Given the description of an element on the screen output the (x, y) to click on. 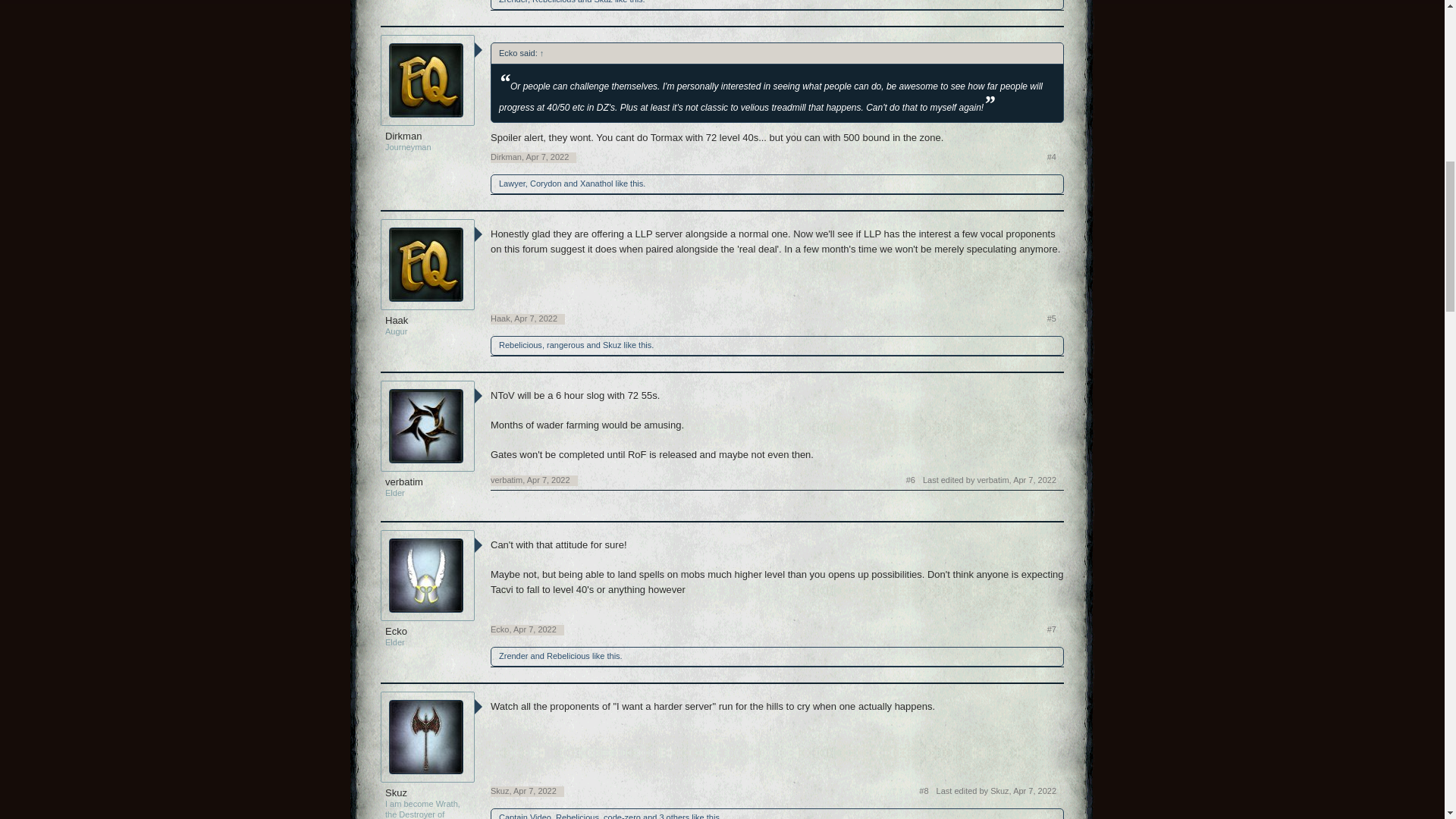
Dirkman (427, 136)
Permalink (535, 317)
Skuz (602, 2)
Zrender (513, 2)
Permalink (547, 156)
Rebelicious (553, 2)
